Given the description of an element on the screen output the (x, y) to click on. 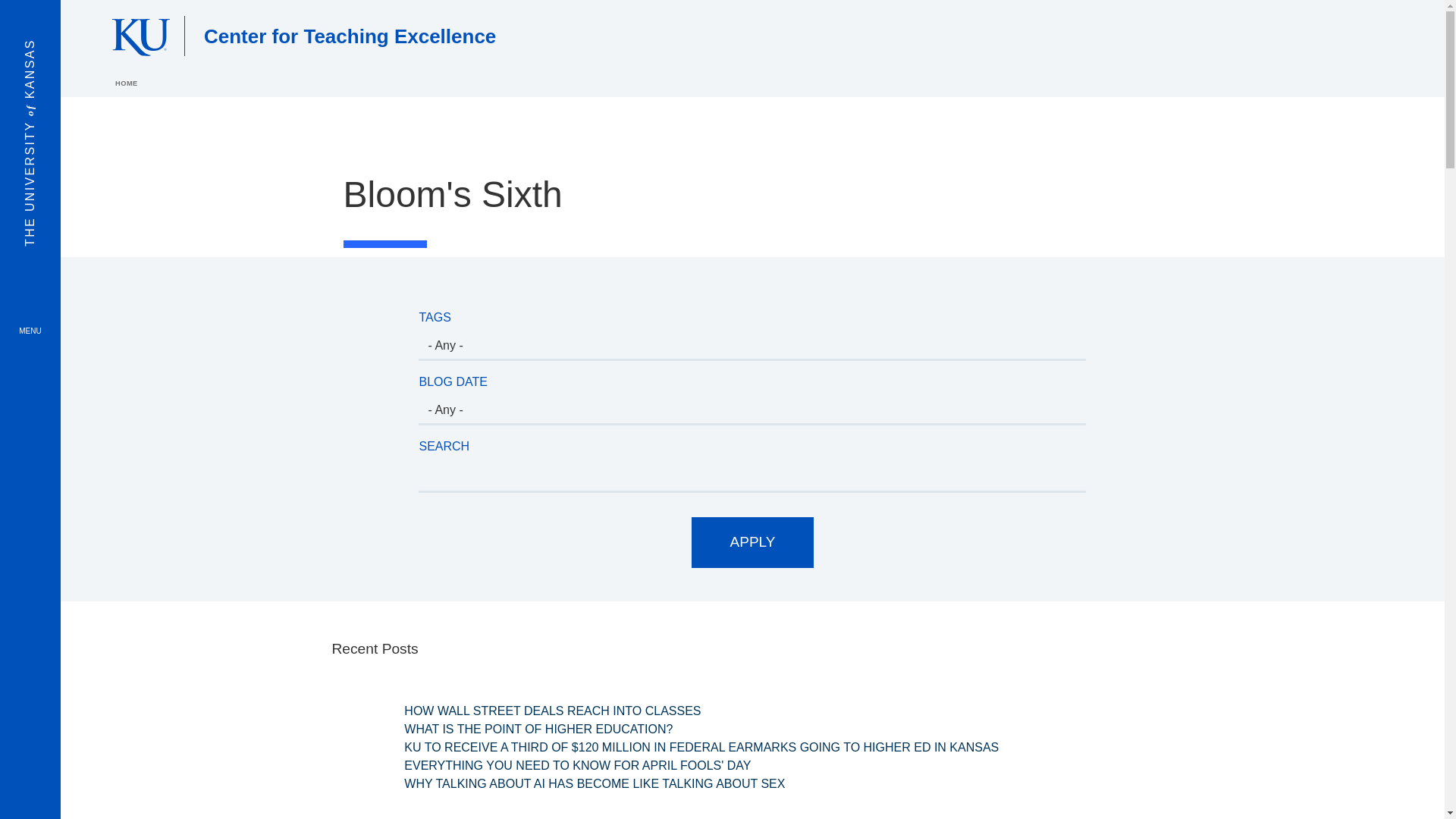
Apply (752, 542)
